Given the description of an element on the screen output the (x, y) to click on. 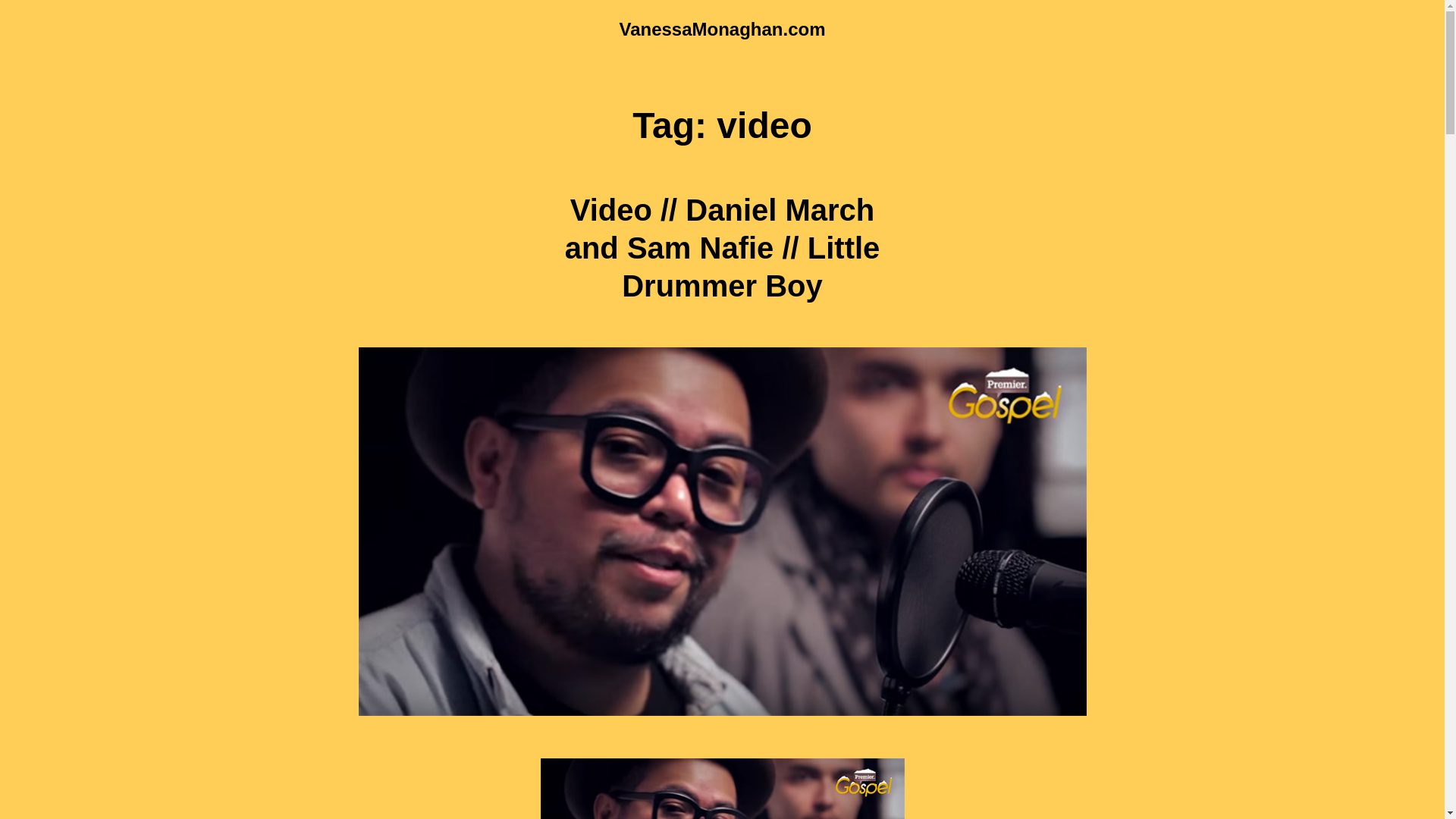
VanessaMonaghan.com (721, 28)
